Given the description of an element on the screen output the (x, y) to click on. 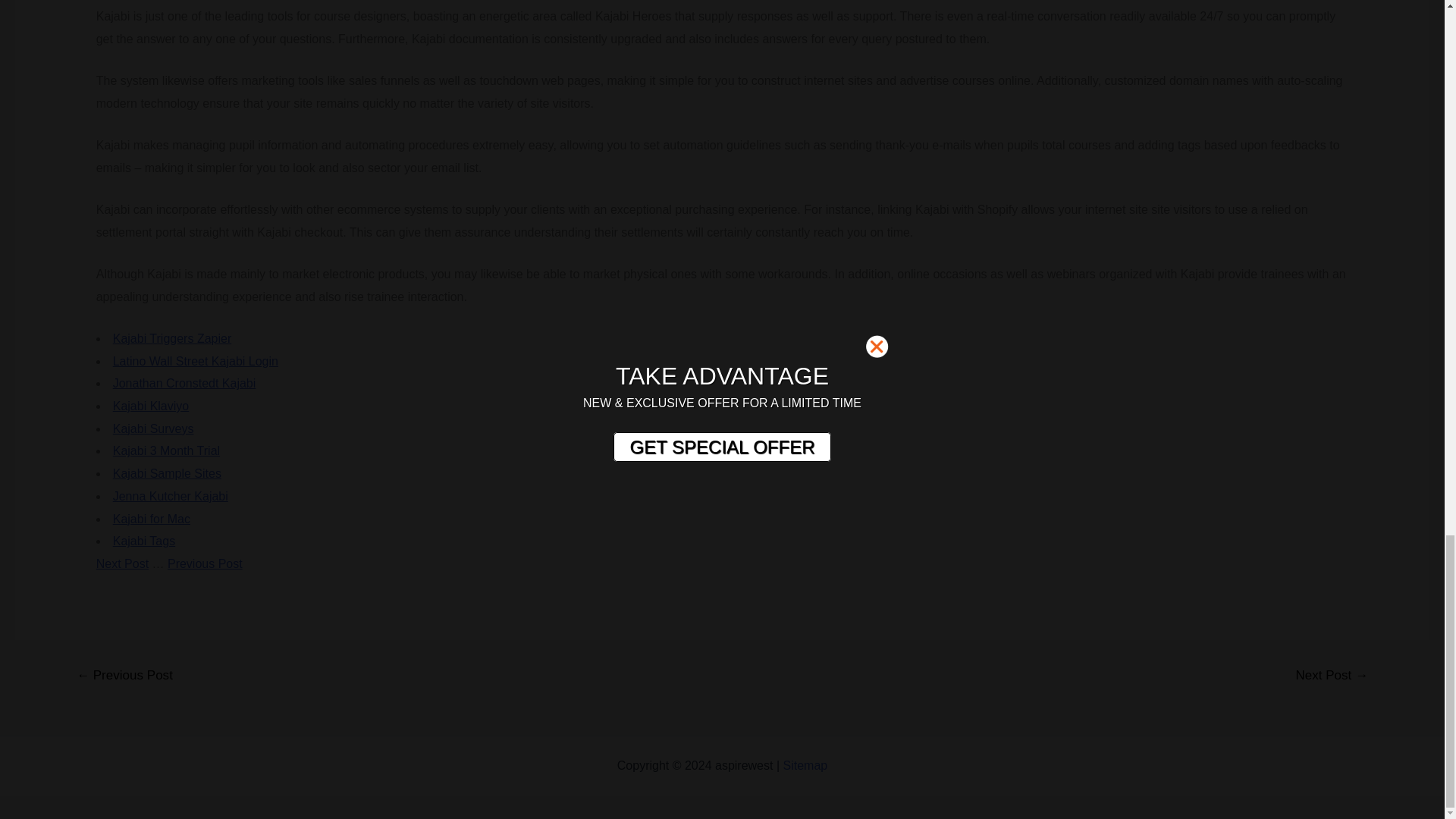
Kajabi Surveys (153, 428)
Jonathan Cronstedt Kajabi (184, 382)
Kajabi for Mac (151, 518)
Kajabi Sample Sites (167, 472)
Previous Post (205, 563)
Kajabi Klaviyo (151, 405)
Kajabi Triggers Zapier (172, 338)
Kajabi Triggers Zapier (172, 338)
Kajabi Klaviyo (151, 405)
Kajabi Sample Sites (167, 472)
Kajabi Tags (143, 540)
Jonathan Cronstedt Kajabi (184, 382)
Latino Wall Street Kajabi Login (195, 360)
Kajabi Tags (143, 540)
Next Post (122, 563)
